Given the description of an element on the screen output the (x, y) to click on. 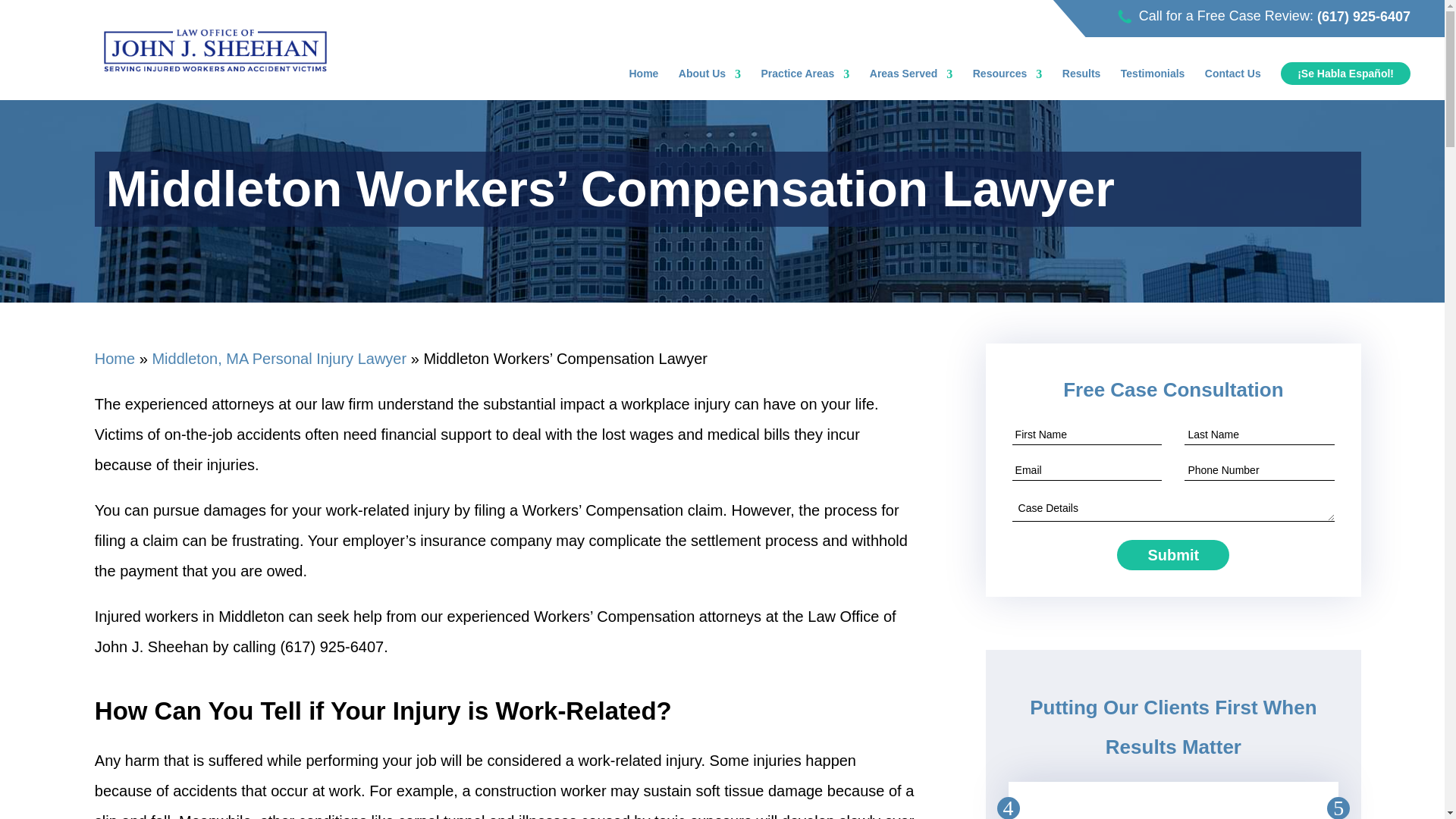
Submit (1172, 554)
Home (643, 76)
Practice Areas (805, 76)
About Us (709, 76)
